Given the description of an element on the screen output the (x, y) to click on. 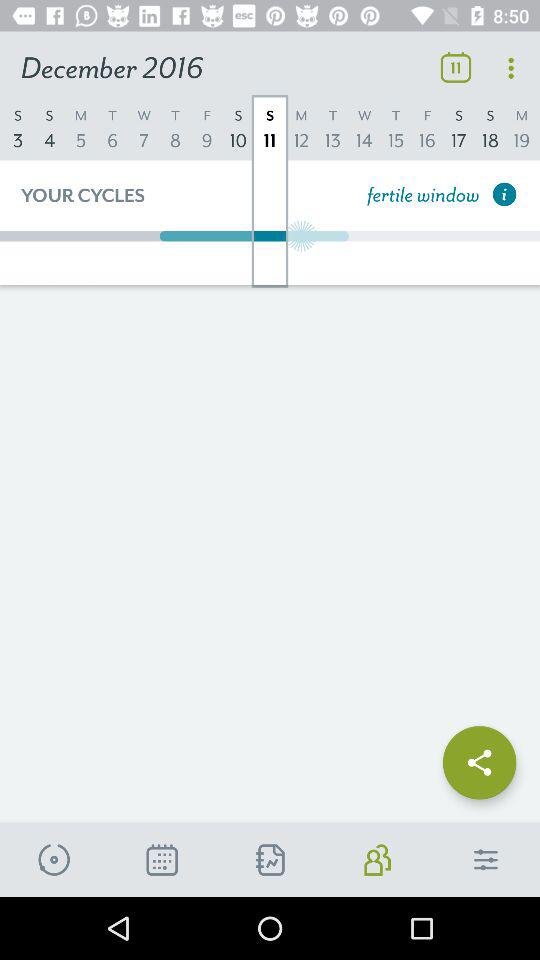
go to share box (479, 756)
